Given the description of an element on the screen output the (x, y) to click on. 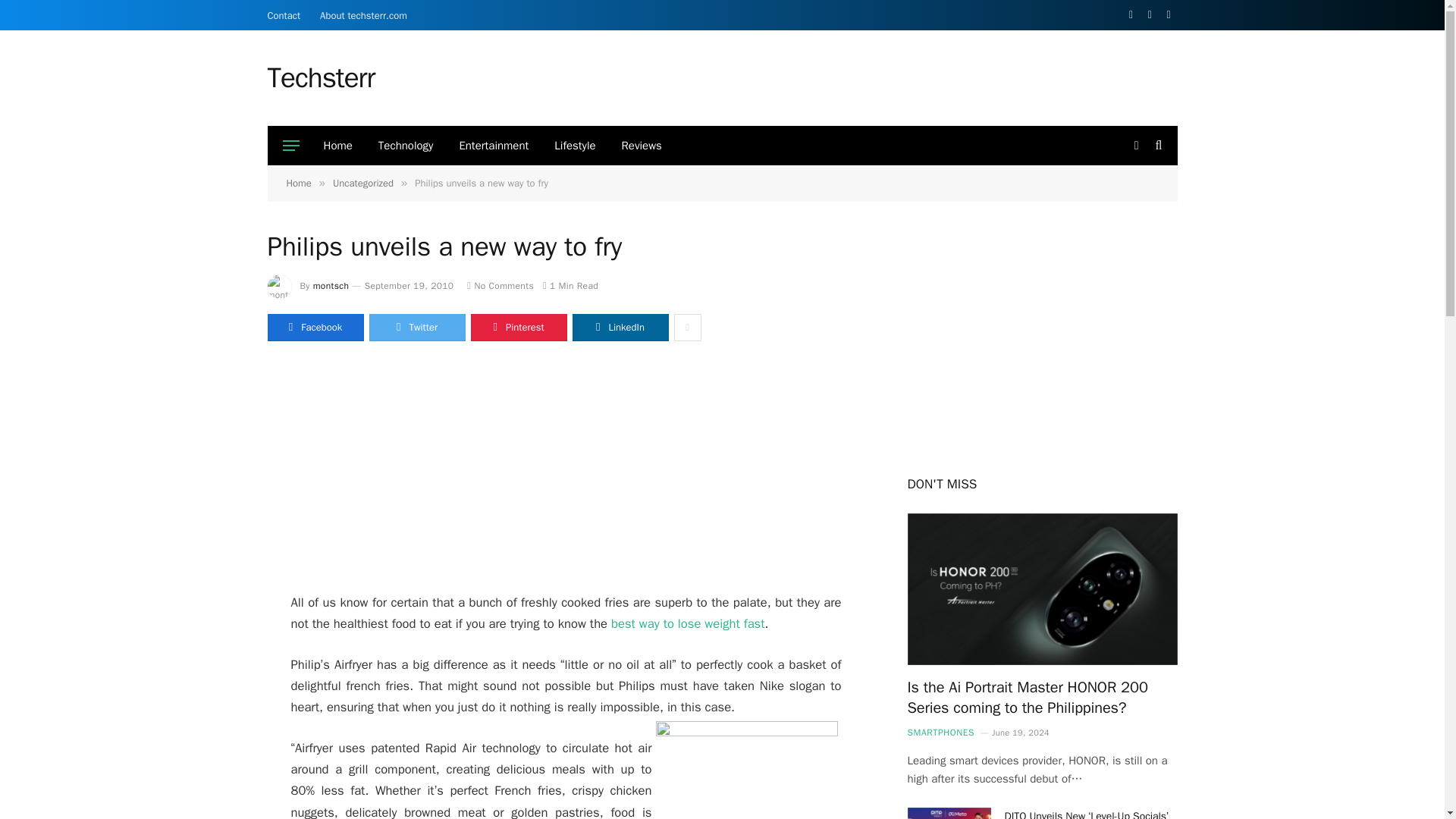
Facebook (1131, 15)
Reviews (641, 145)
Share on Pinterest (518, 327)
Posts by montsch (331, 285)
No Comments (500, 285)
Instagram (1168, 15)
montsch (331, 285)
Contact (284, 15)
Pinterest (518, 327)
Home (338, 145)
Uncategorized (363, 182)
About techsterr.com (363, 15)
Search (1157, 145)
Techsterr (320, 77)
